Given the description of an element on the screen output the (x, y) to click on. 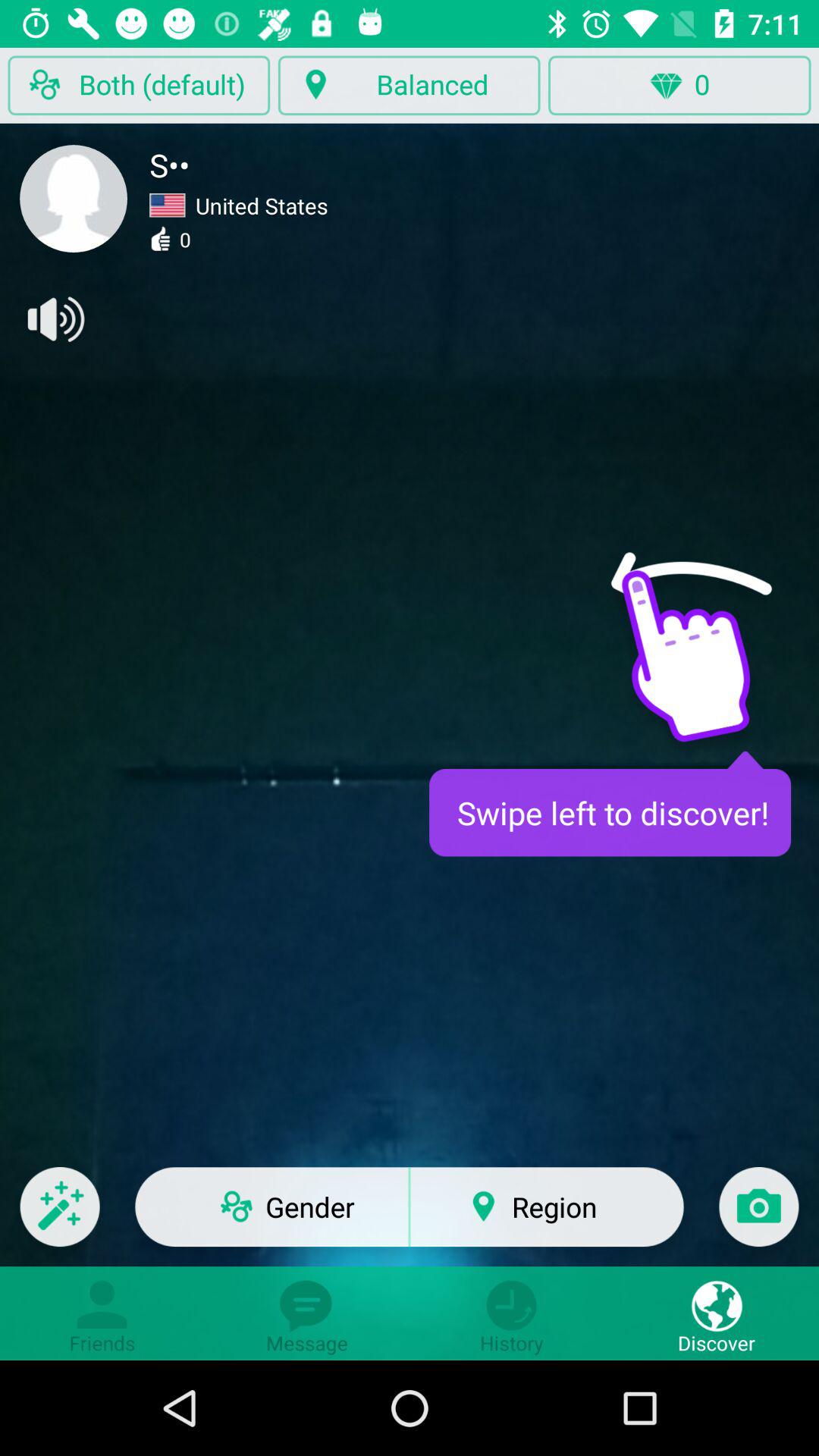
turn on the item below the both (default) item (73, 198)
